Given the description of an element on the screen output the (x, y) to click on. 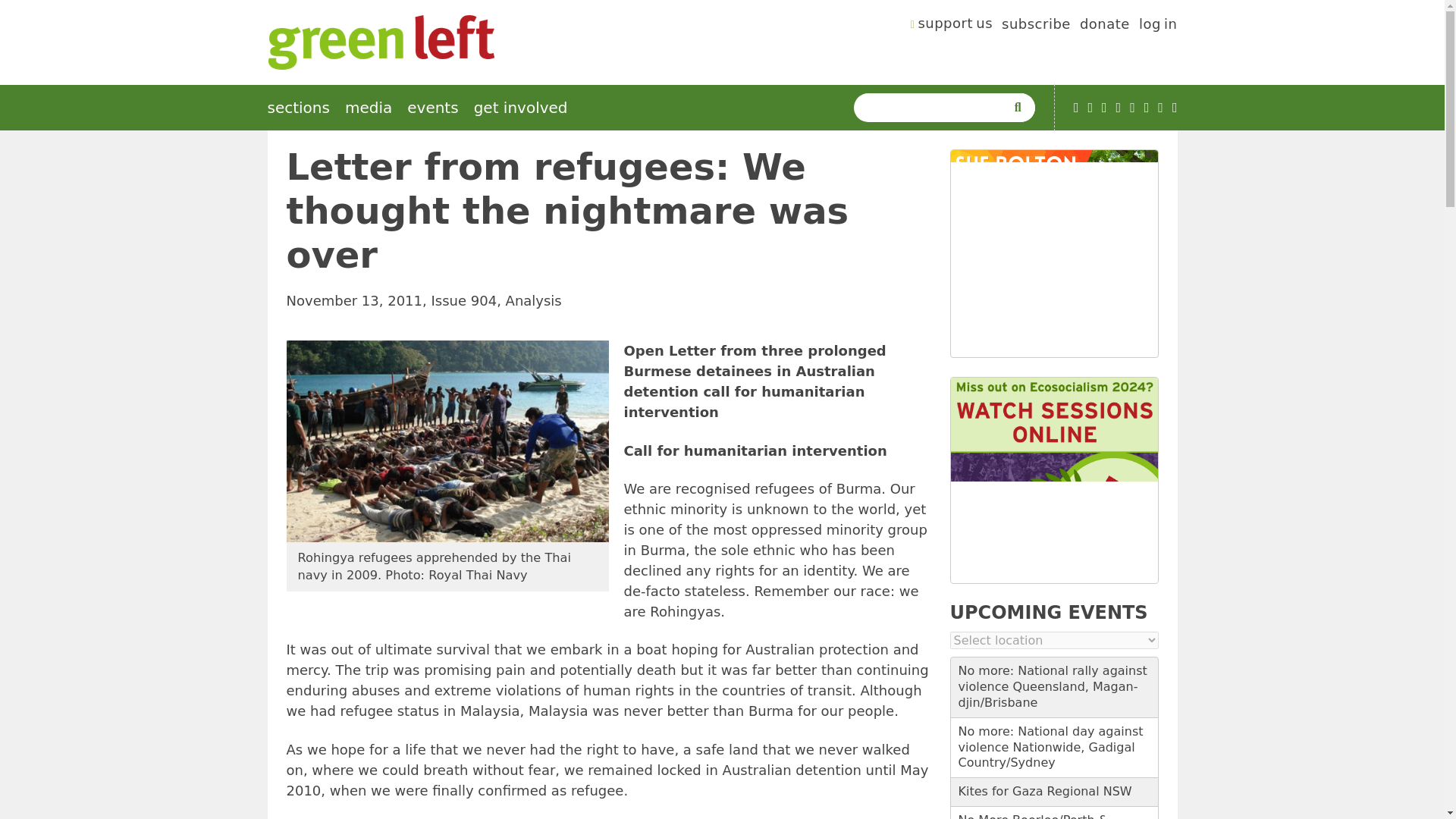
Facebook (1104, 107)
support us (951, 26)
donate (1104, 26)
log in (1157, 26)
Podcast (1090, 107)
events (432, 107)
subscribe (1035, 26)
TikTok (1118, 107)
Enter the terms you wish to search for. (932, 107)
YouTube (1076, 107)
